Given the description of an element on the screen output the (x, y) to click on. 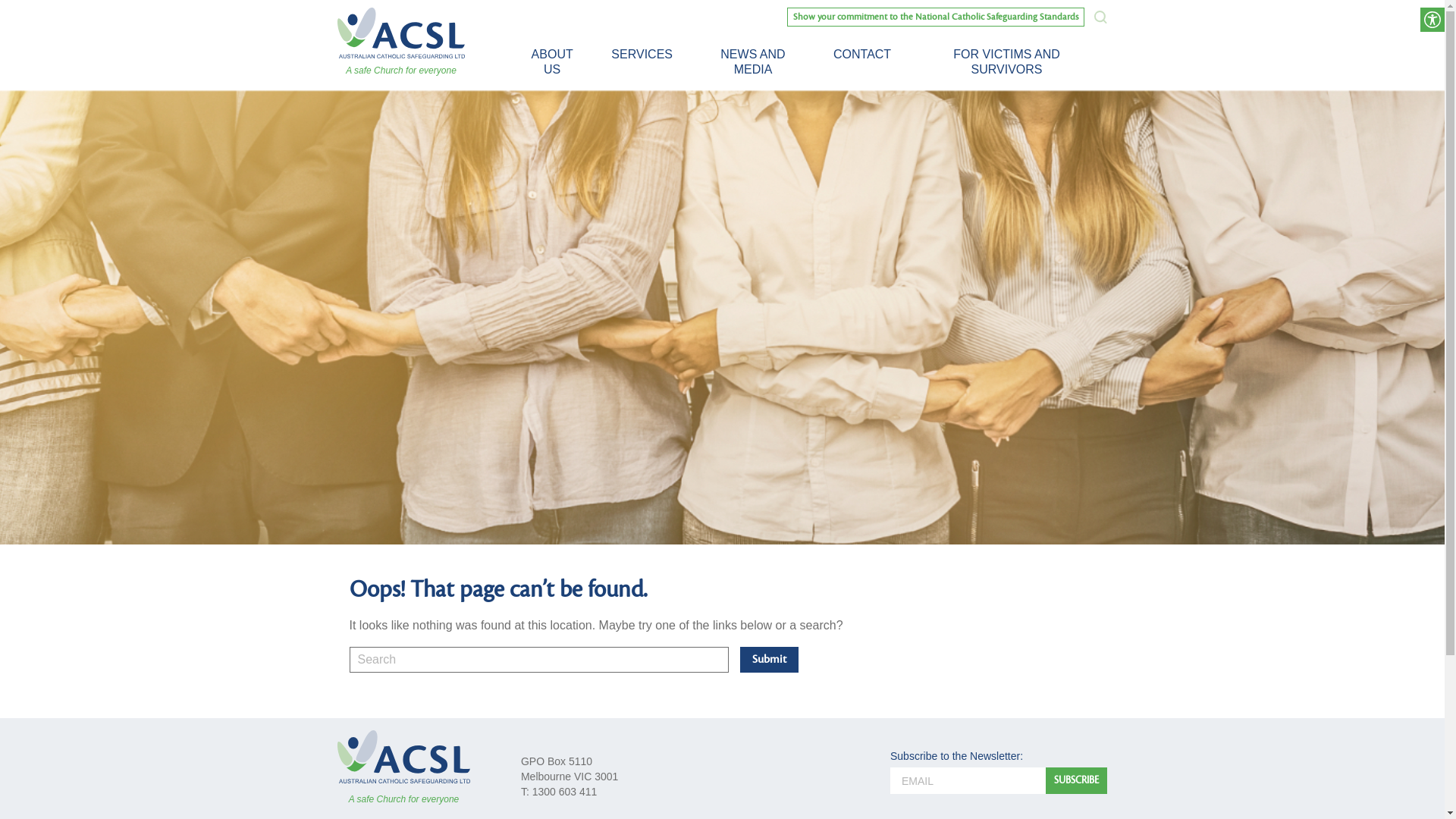
FOR VICTIMS AND SURVIVORS Element type: text (1006, 61)
Submit Element type: text (769, 659)
NEWS AND MEDIA Element type: text (752, 61)
SERVICES Element type: text (641, 54)
SUBSCRIBE Element type: text (1076, 780)
ABOUT US Element type: text (551, 61)
CONTACT Element type: text (861, 54)
A safe Church for everyone Element type: text (403, 766)
